Given the description of an element on the screen output the (x, y) to click on. 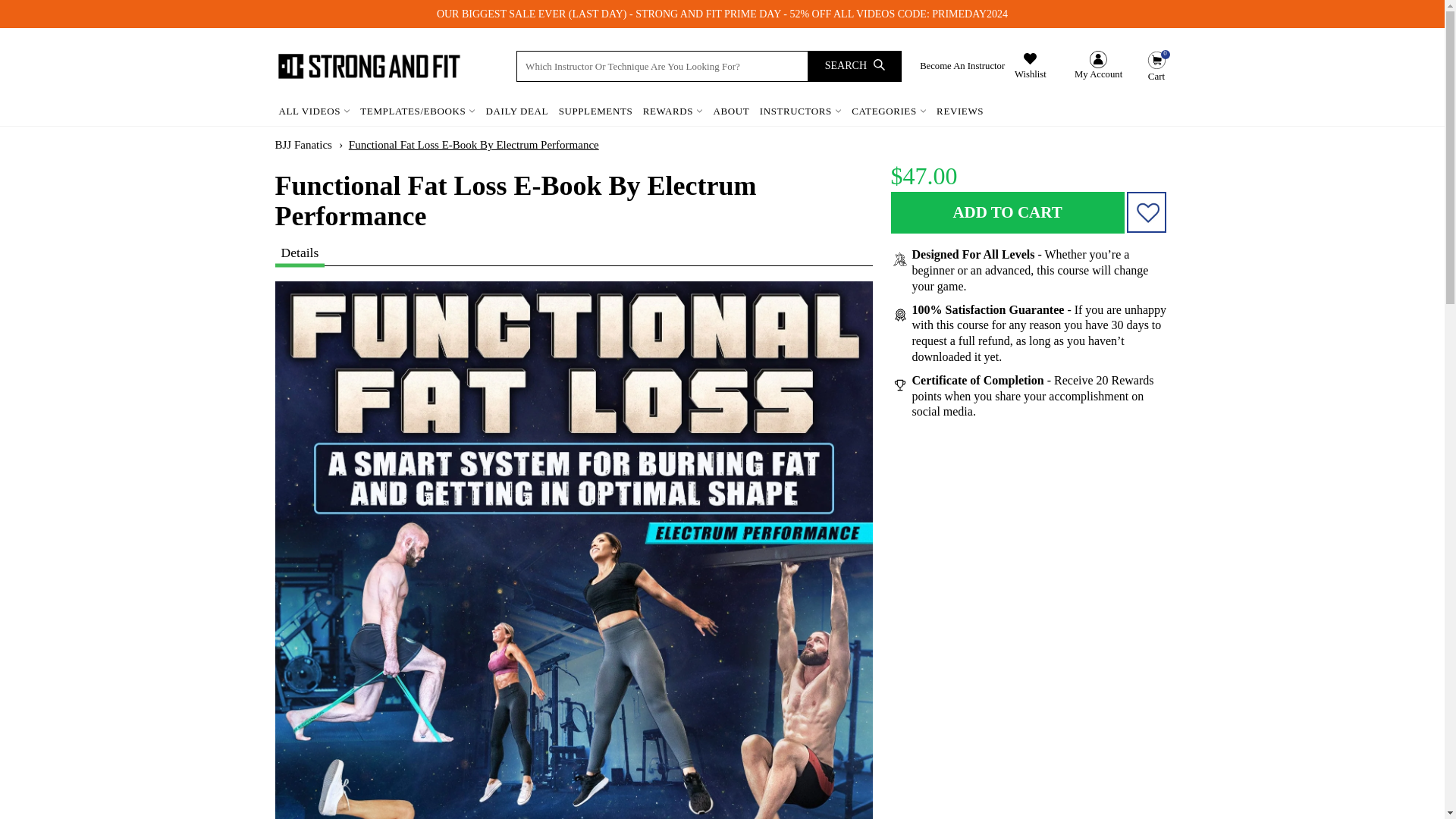
Home (303, 144)
Become An Instructor (962, 66)
